Given the description of an element on the screen output the (x, y) to click on. 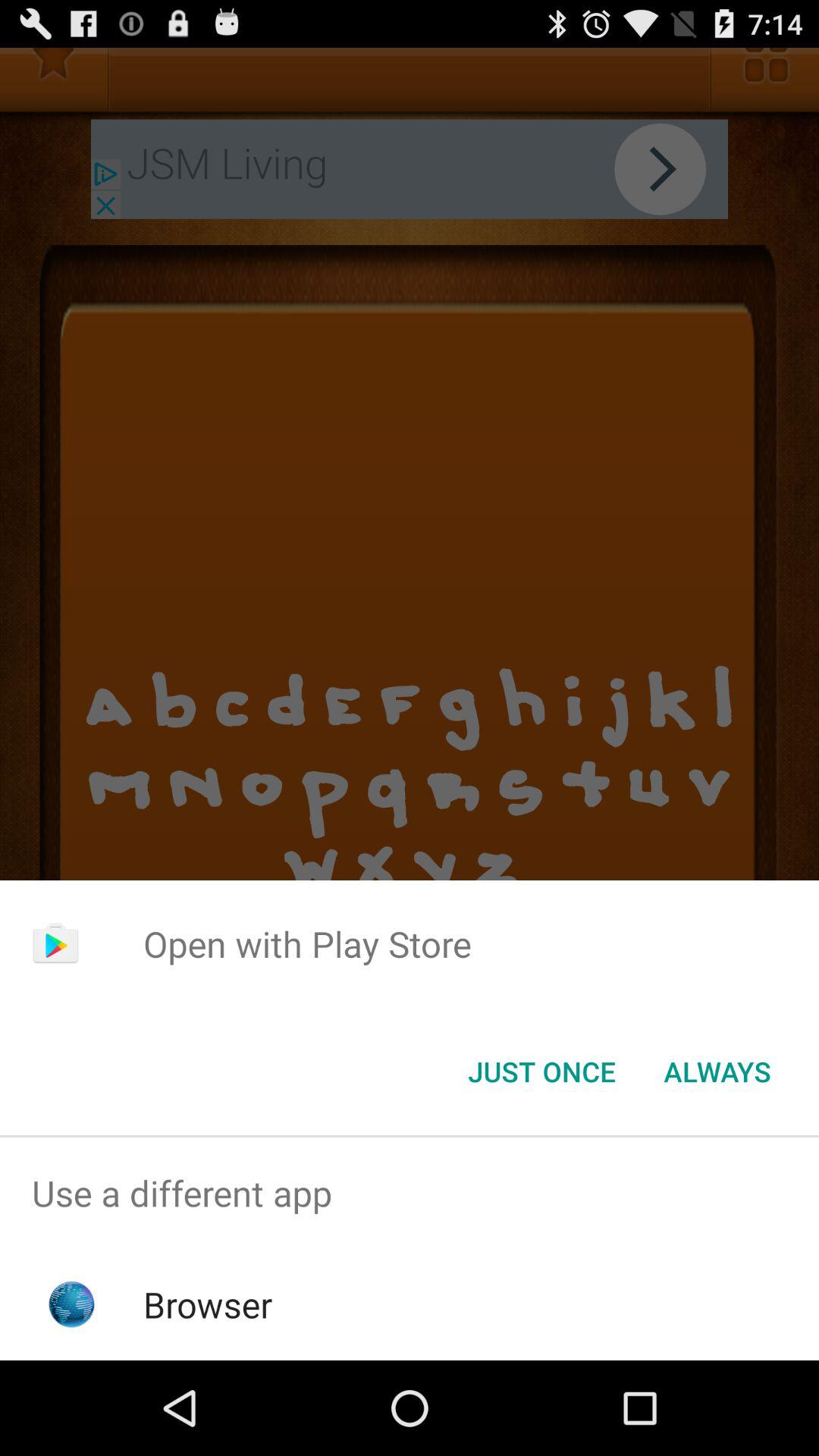
choose button to the right of the just once (717, 1071)
